Given the description of an element on the screen output the (x, y) to click on. 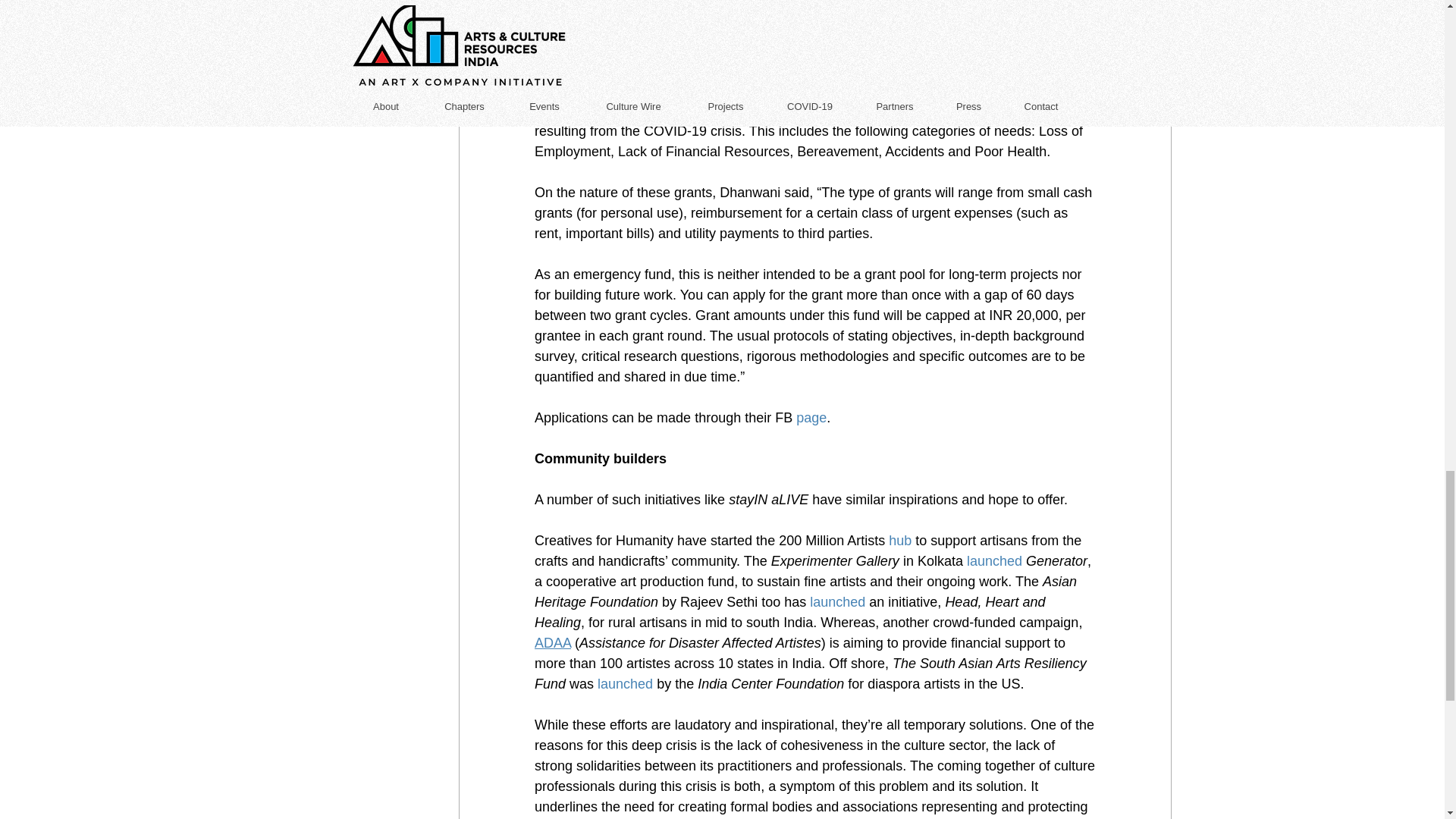
hub (899, 540)
launched (624, 683)
page (811, 417)
ADAA (552, 642)
launched (994, 560)
launched (836, 601)
